Given the description of an element on the screen output the (x, y) to click on. 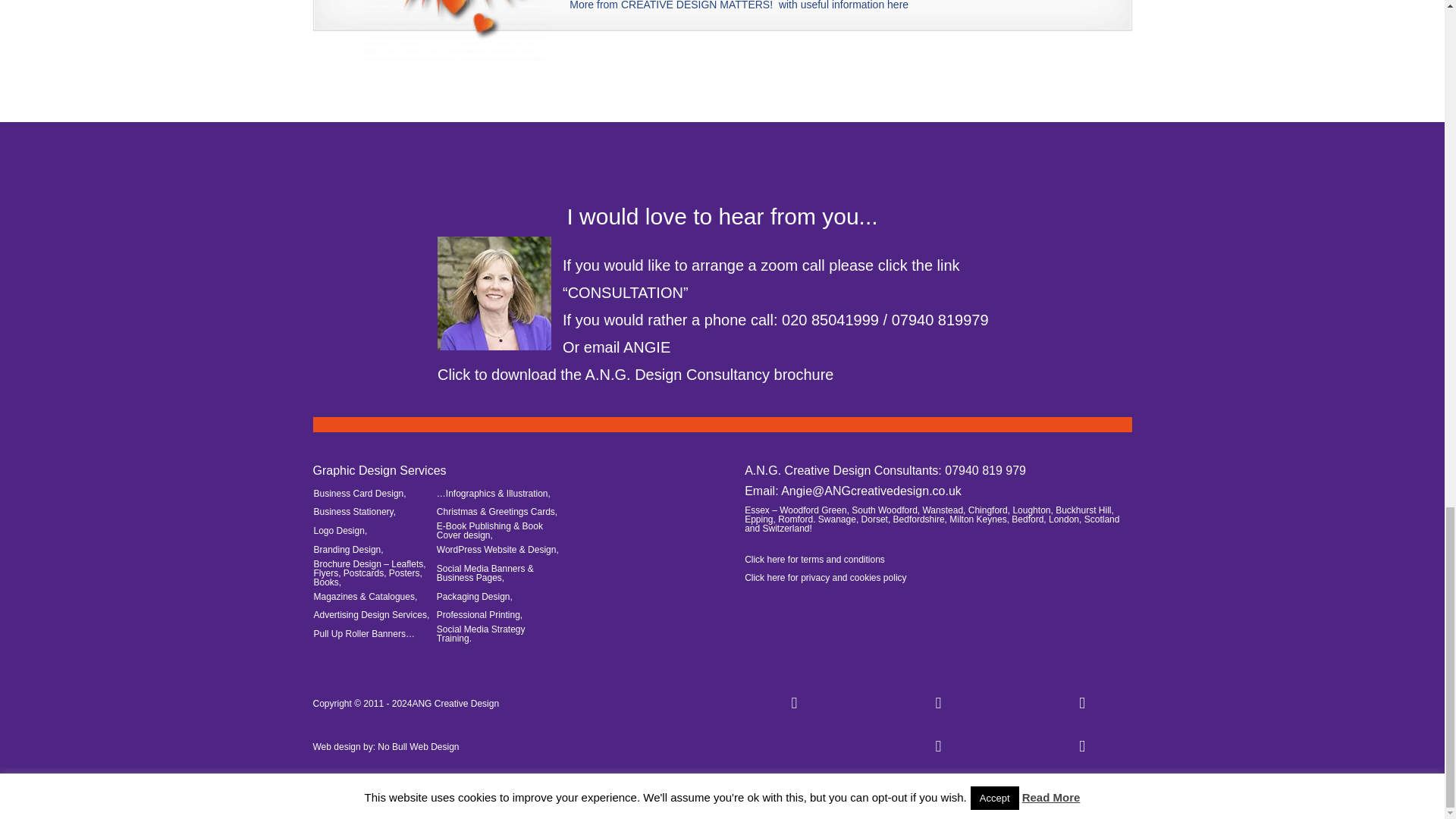
I would love to hear from you... (721, 216)
brand (48, 132)
unique selling proposition (332, 132)
logo (135, 132)
branding (92, 132)
ANGIE (646, 347)
unique selling point (205, 132)
USP (419, 132)
